Given the description of an element on the screen output the (x, y) to click on. 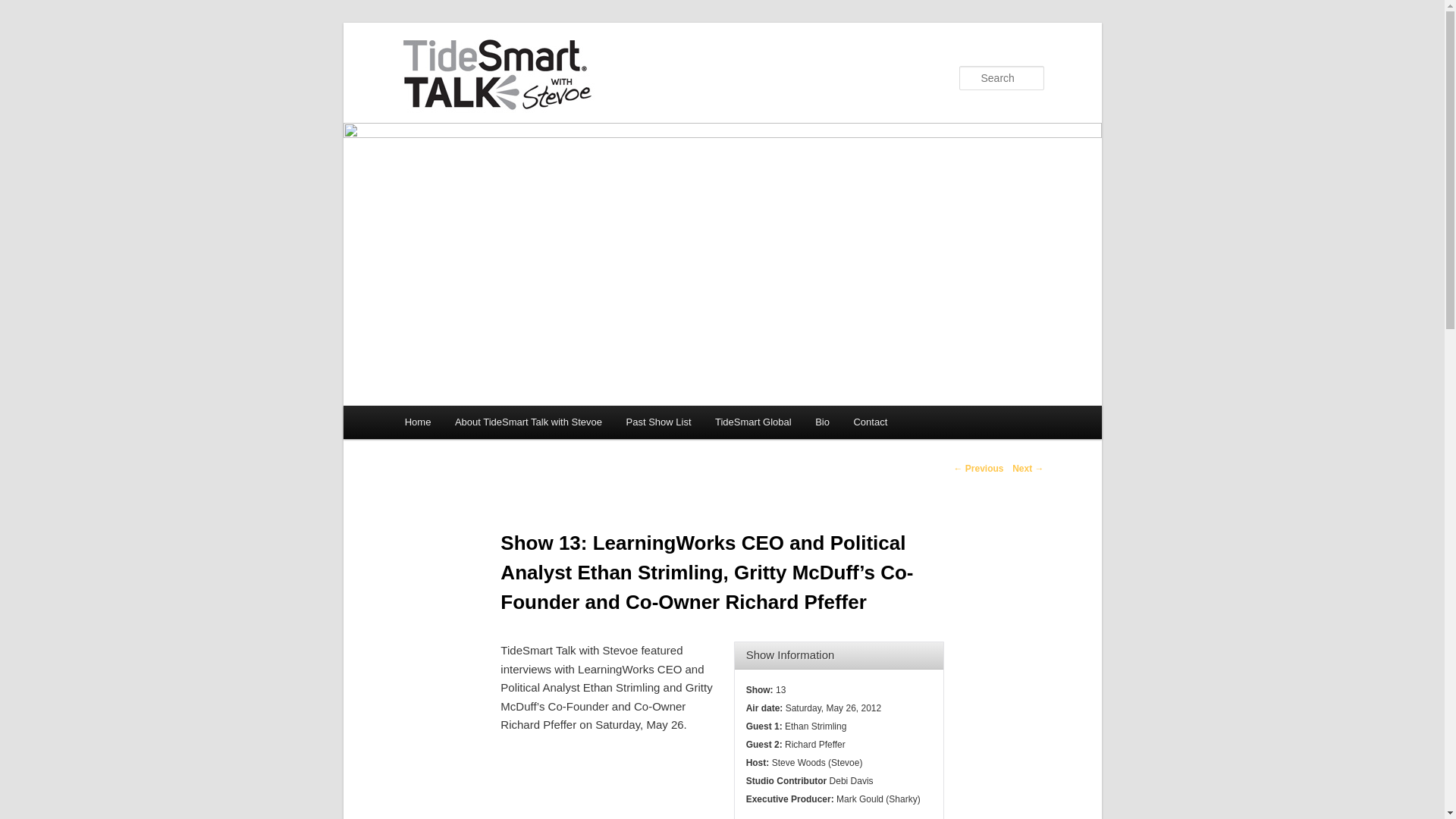
About TideSmart Talk with Stevoe (528, 421)
Past Show List (658, 421)
TideSmart Global (753, 421)
Home (417, 421)
Contact (870, 421)
Skip to secondary content (479, 424)
Skip to primary content (472, 424)
Skip to primary content (472, 424)
Skip to secondary content (479, 424)
Search (24, 8)
